Given the description of an element on the screen output the (x, y) to click on. 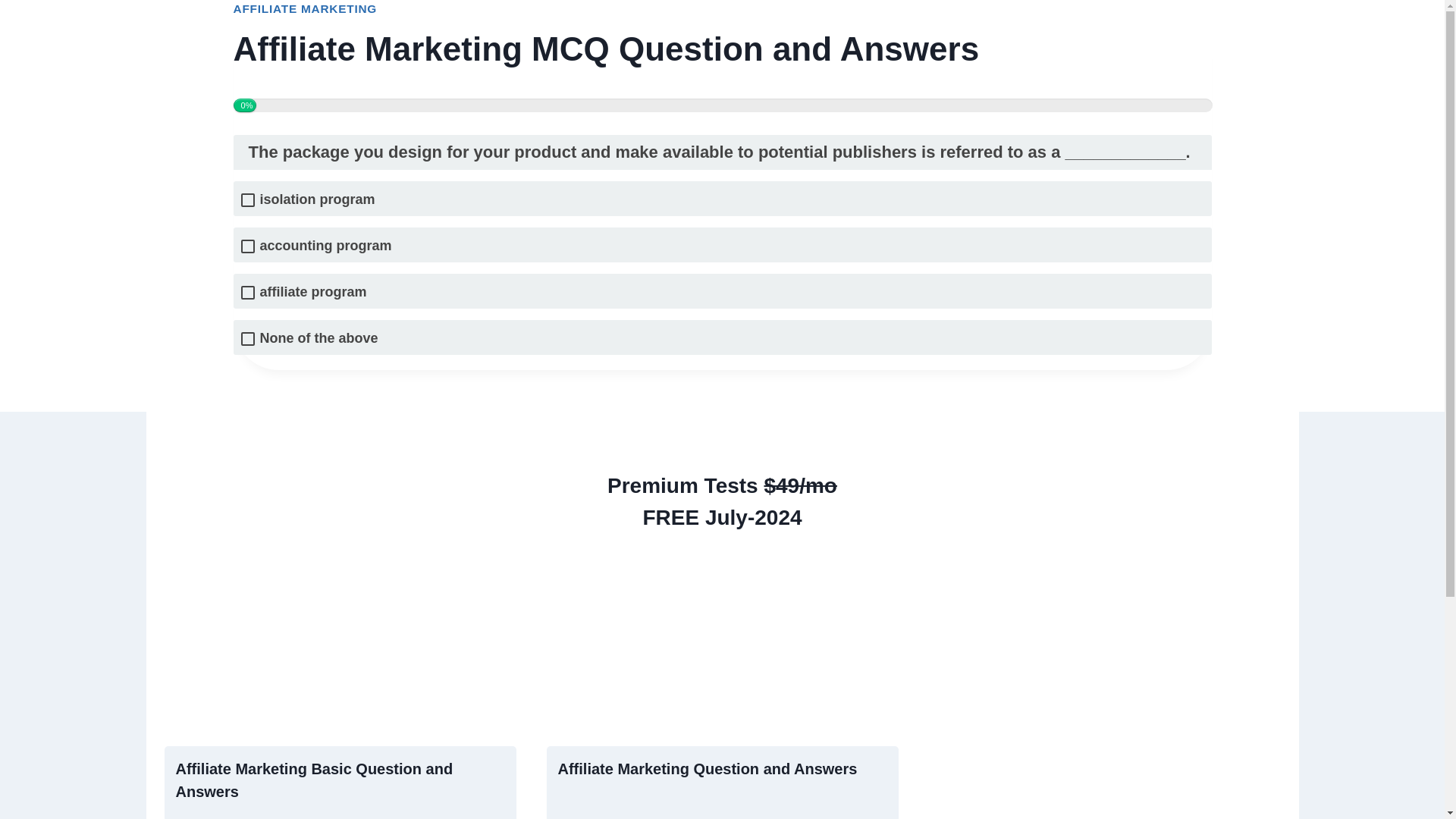
Affiliate Marketing Question and Answers (707, 768)
Affiliate Marketing Basic Question and Answers (314, 780)
AFFILIATE MARKETING (304, 8)
